Given the description of an element on the screen output the (x, y) to click on. 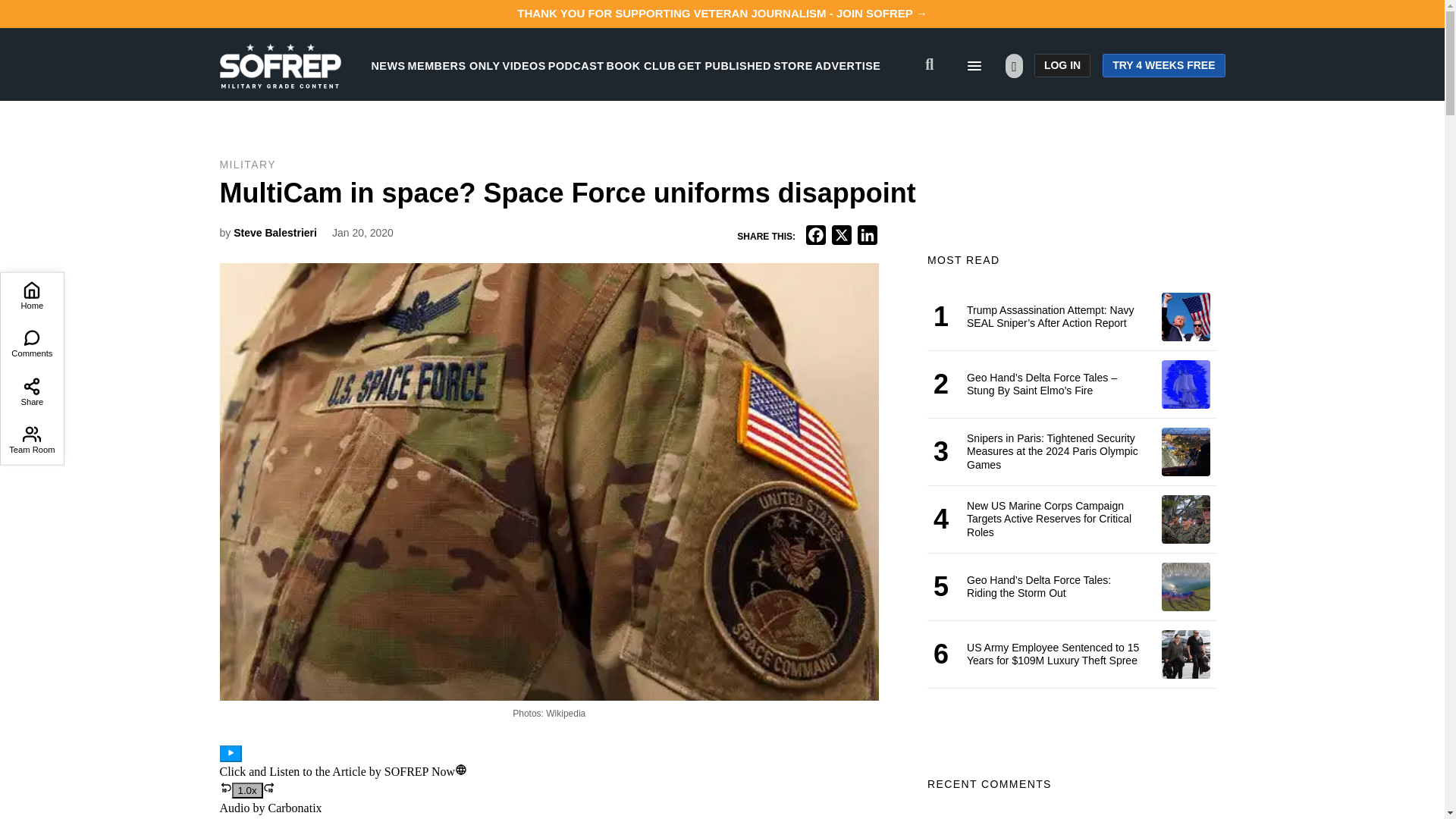
LOG IN (1061, 65)
STORE (792, 65)
BOOK CLUB (641, 65)
PODCAST (576, 65)
NEWS (388, 65)
GET PUBLISHED (724, 65)
ADVERTISE (847, 65)
MEMBERS ONLY (453, 65)
TRY 4 WEEKS FREE (1163, 65)
VIDEOS (524, 65)
